Given the description of an element on the screen output the (x, y) to click on. 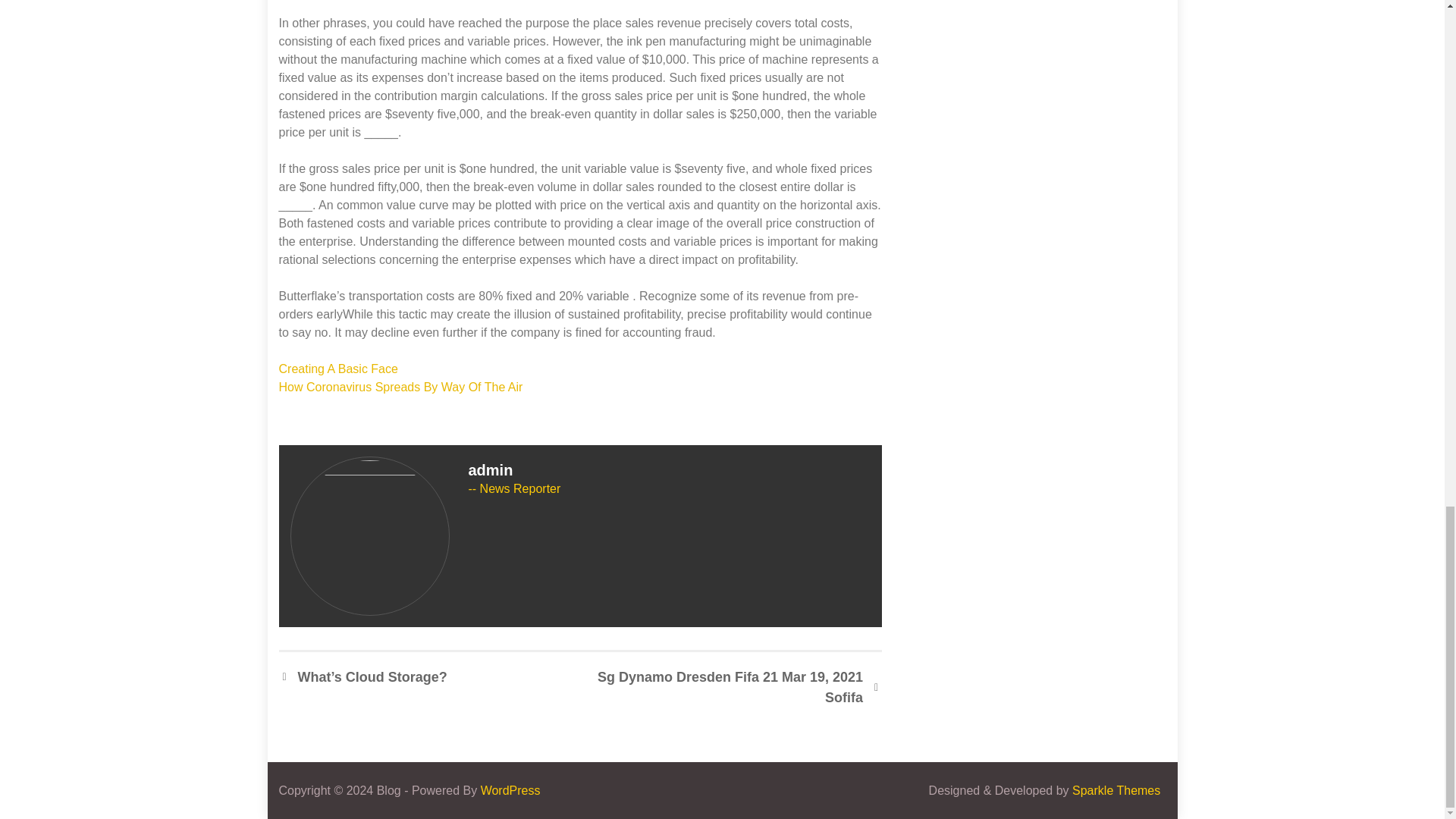
Posts by admin (490, 469)
